Given the description of an element on the screen output the (x, y) to click on. 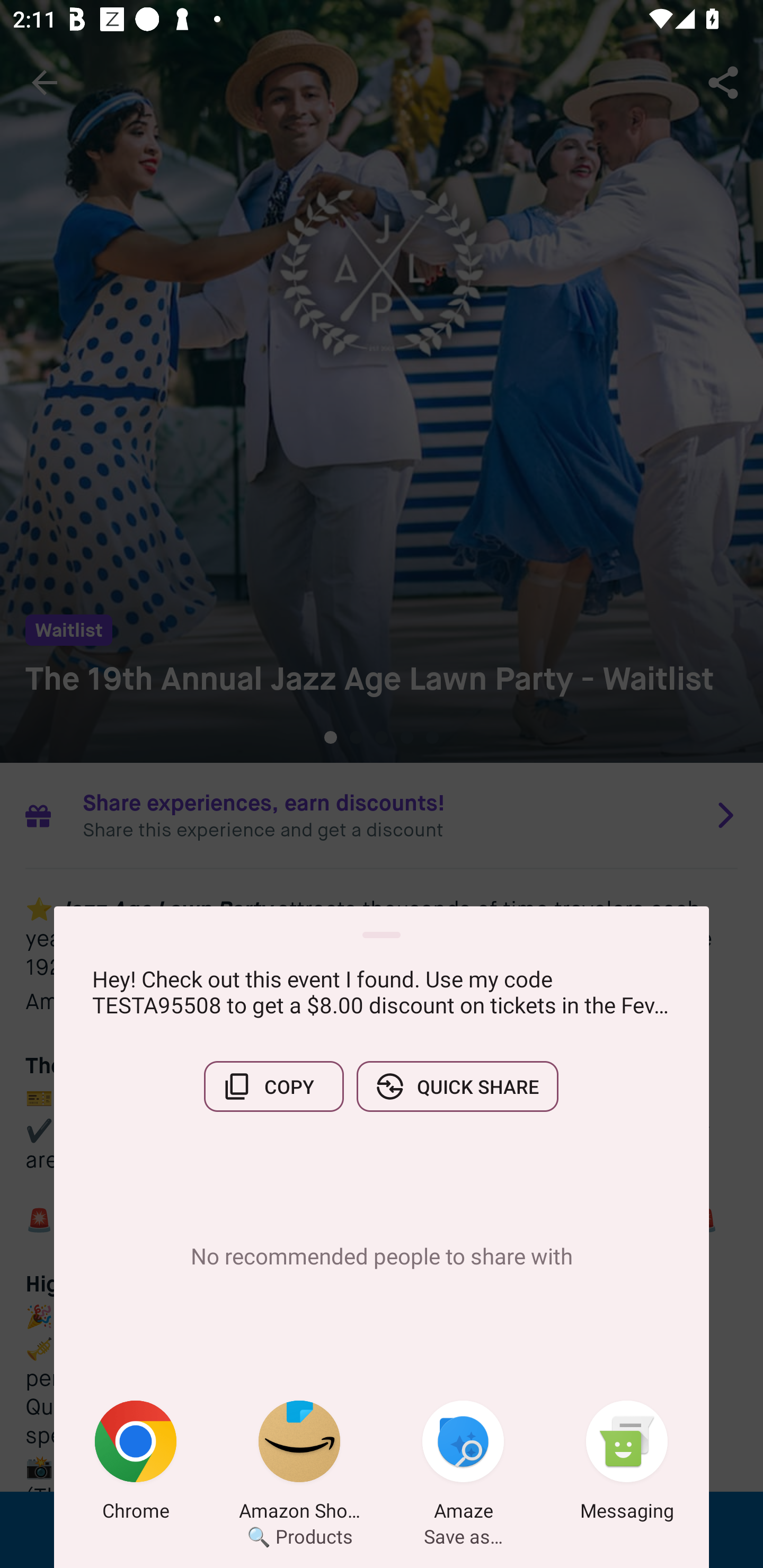
COPY (273, 1086)
QUICK SHARE (457, 1086)
Chrome (135, 1463)
Amazon Shopping 🔍 Products (299, 1463)
Amaze Save as… (463, 1463)
Messaging (626, 1463)
